Given the description of an element on the screen output the (x, y) to click on. 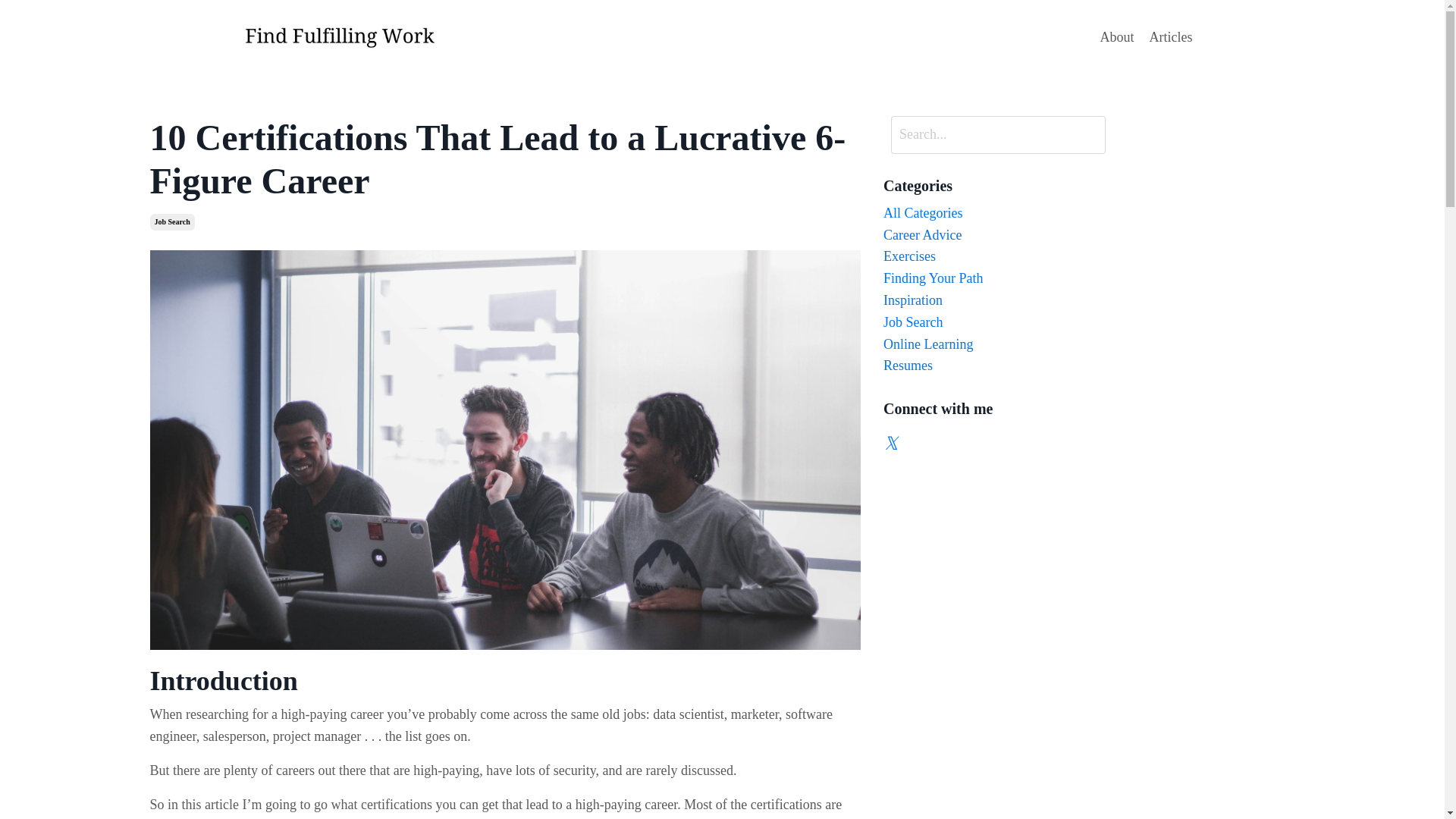
Finding Your Path (994, 278)
Career Advice (994, 235)
Online Learning (994, 344)
Inspiration (994, 300)
About (1117, 37)
Resumes (994, 365)
Articles (1171, 37)
Exercises (994, 256)
Job Search (994, 322)
All Categories (994, 213)
Job Search (172, 221)
